Given the description of an element on the screen output the (x, y) to click on. 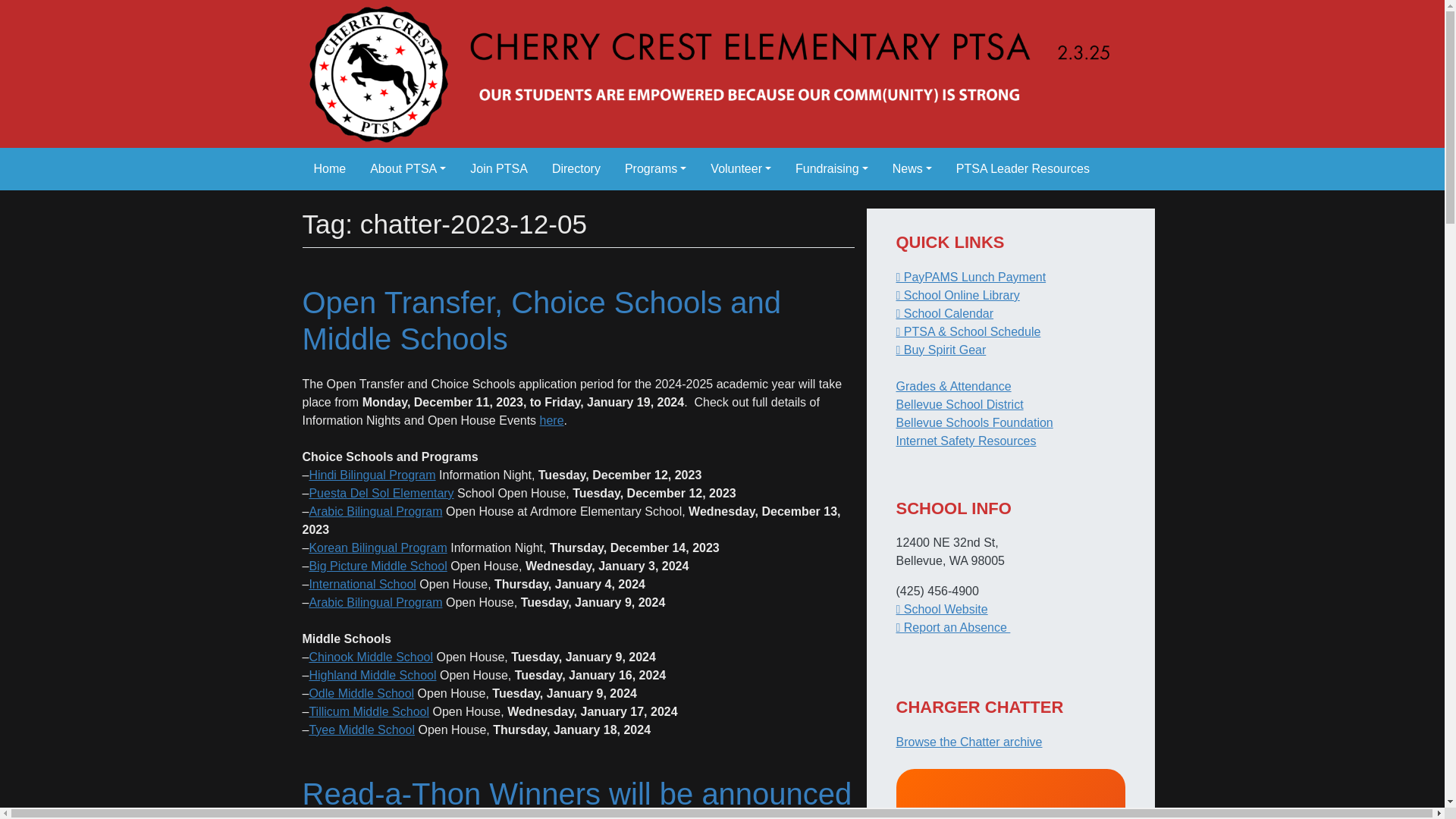
Programs (655, 169)
Join PTSA (499, 169)
Fundraising (831, 169)
About PTSA (408, 169)
Directory (576, 169)
Home (329, 169)
Home (329, 169)
Programs (655, 169)
About PTSA (408, 169)
News (911, 169)
